Given the description of an element on the screen output the (x, y) to click on. 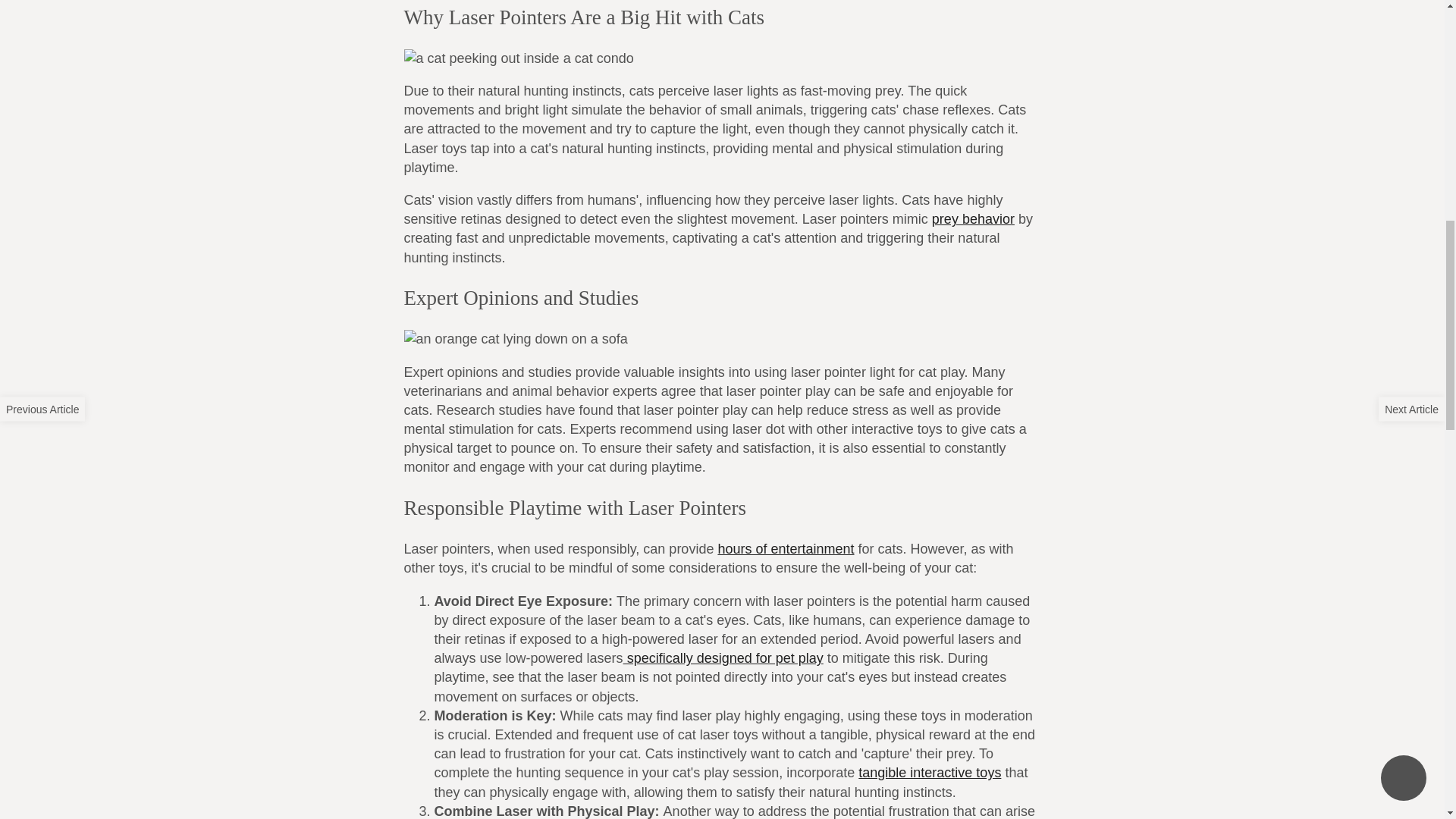
9 Amazing Cat Superpowers That You Need To Know (972, 218)
KittyNook Collections Cat Toys for Kitty (930, 772)
tangible interactive toys (930, 772)
prey behavior (972, 218)
specifically designed for pet play (723, 657)
hours of entertainment (785, 548)
Rojeco Automatic Cat Laser Toy (723, 657)
Characteristics of Top Cat Toys for Self-Play (785, 548)
